Given the description of an element on the screen output the (x, y) to click on. 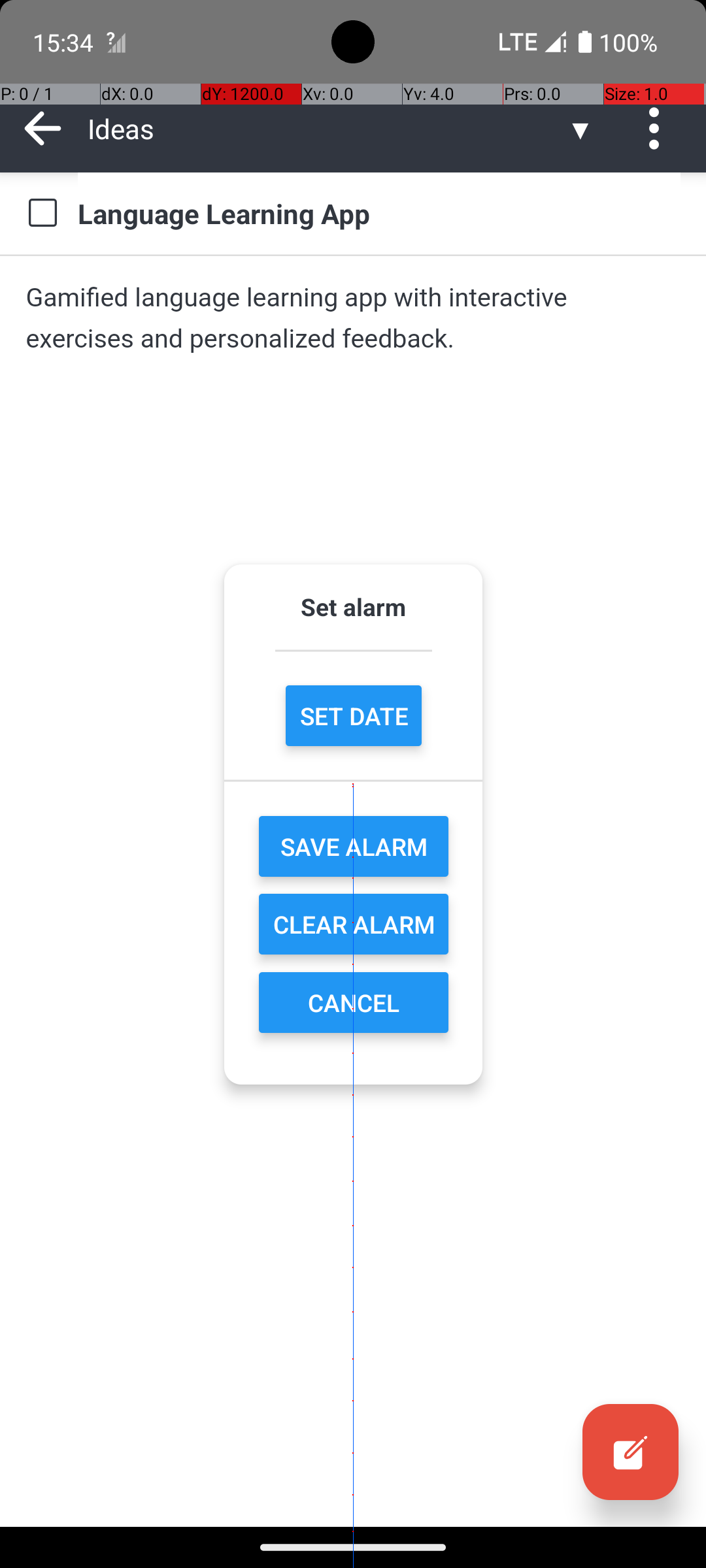
Set alarm Element type: android.widget.TextView (352, 606)
SET DATE Element type: android.widget.TextView (353, 715)
SAVE ALARM Element type: android.widget.TextView (353, 846)
CLEAR ALARM Element type: android.widget.TextView (353, 923)
